Given the description of an element on the screen output the (x, y) to click on. 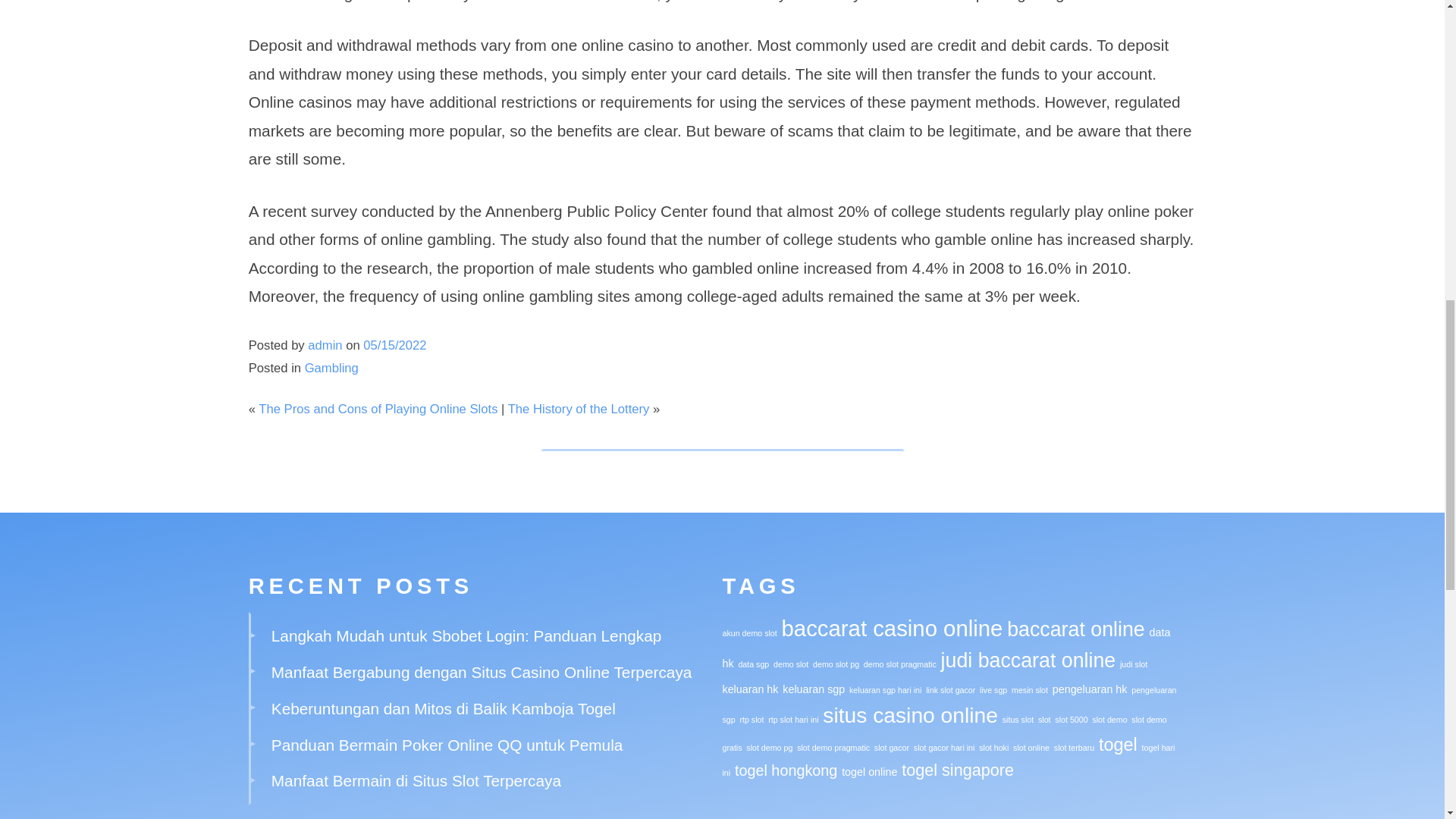
rtp slot (750, 718)
Manfaat Bergabung dengan Situs Casino Online Terpercaya (481, 671)
situs slot (1018, 718)
live sgp (993, 689)
akun demo slot (749, 633)
baccarat online (1075, 629)
Manfaat Bermain di Situs Slot Terpercaya (415, 780)
judi slot (1133, 664)
The History of the Lottery (578, 409)
data sgp (753, 664)
Keberuntungan dan Mitos di Balik Kamboja Togel (442, 708)
baccarat casino online (892, 627)
The Pros and Cons of Playing Online Slots (378, 409)
Langkah Mudah untuk Sbobet Login: Panduan Lengkap (466, 635)
mesin slot (1029, 689)
